Given the description of an element on the screen output the (x, y) to click on. 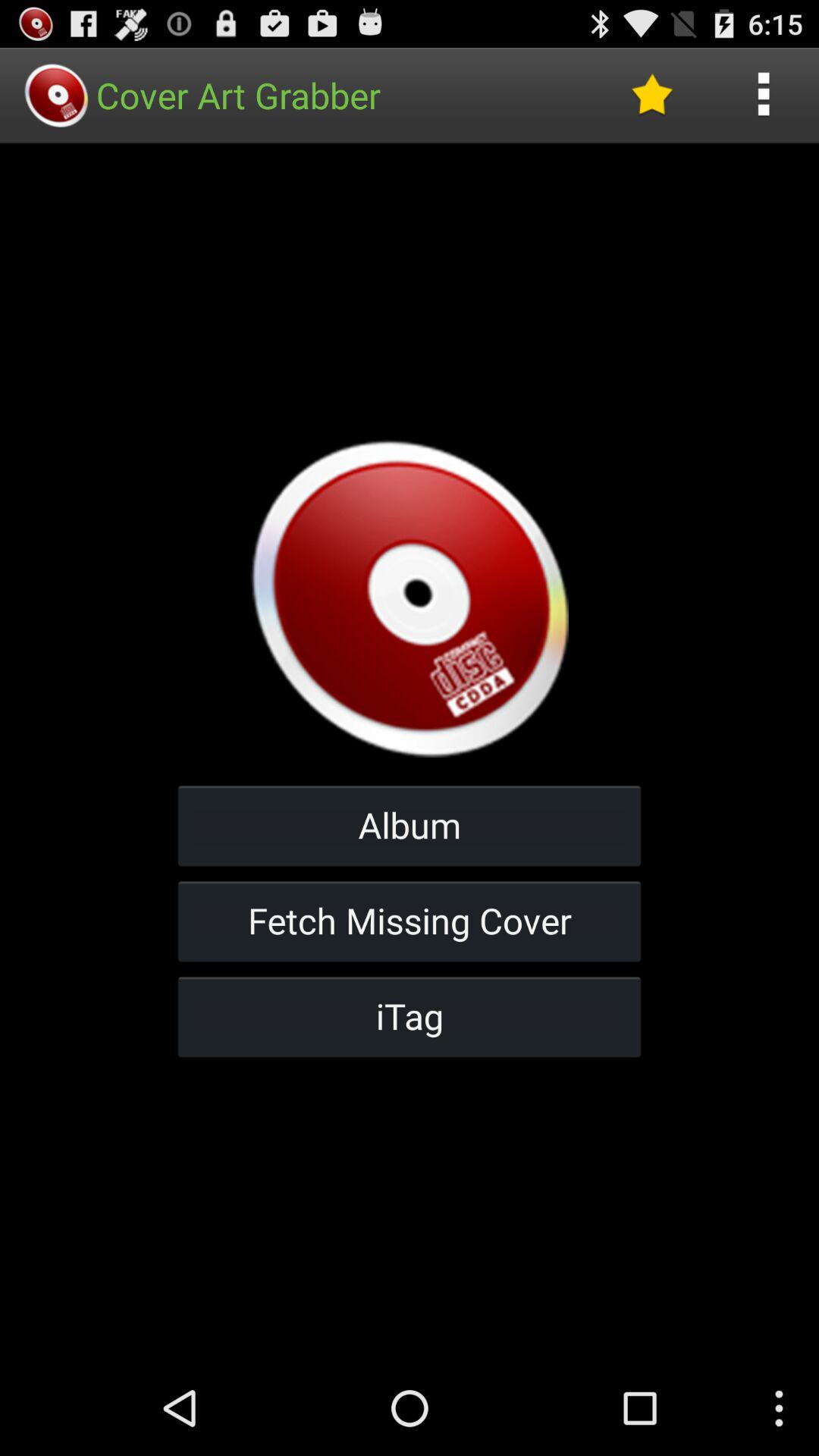
select the item next to cover art grabber icon (651, 95)
